Given the description of an element on the screen output the (x, y) to click on. 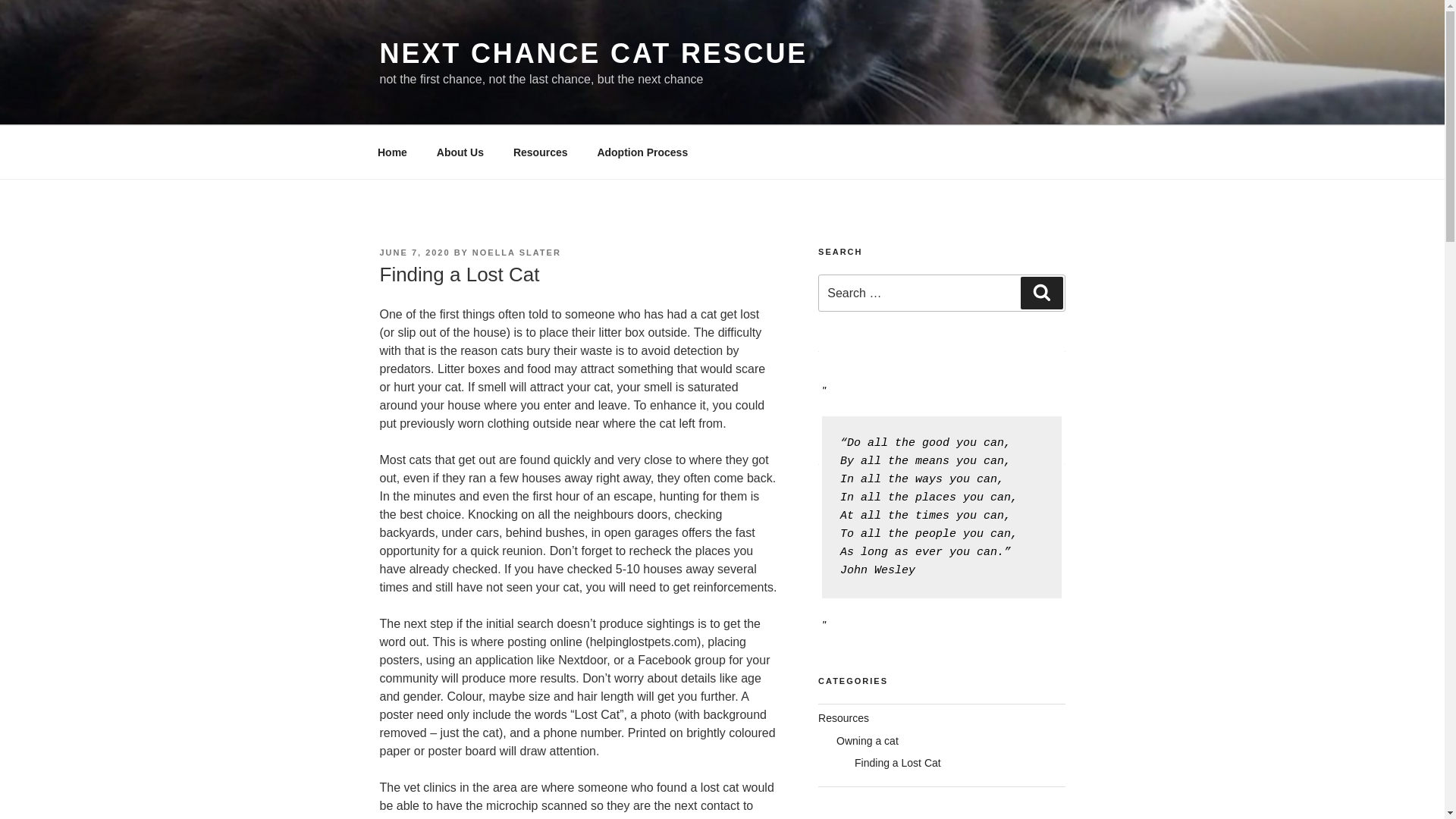
Resources (539, 151)
NOELLA SLATER (515, 252)
Home (392, 151)
Owning a cat (866, 740)
JUNE 7, 2020 (413, 252)
About Us (459, 151)
NEXT CHANCE CAT RESCUE (593, 52)
Resources (843, 717)
Search (1041, 292)
Finding a Lost Cat (897, 762)
Adoption Process (642, 151)
